Given the description of an element on the screen output the (x, y) to click on. 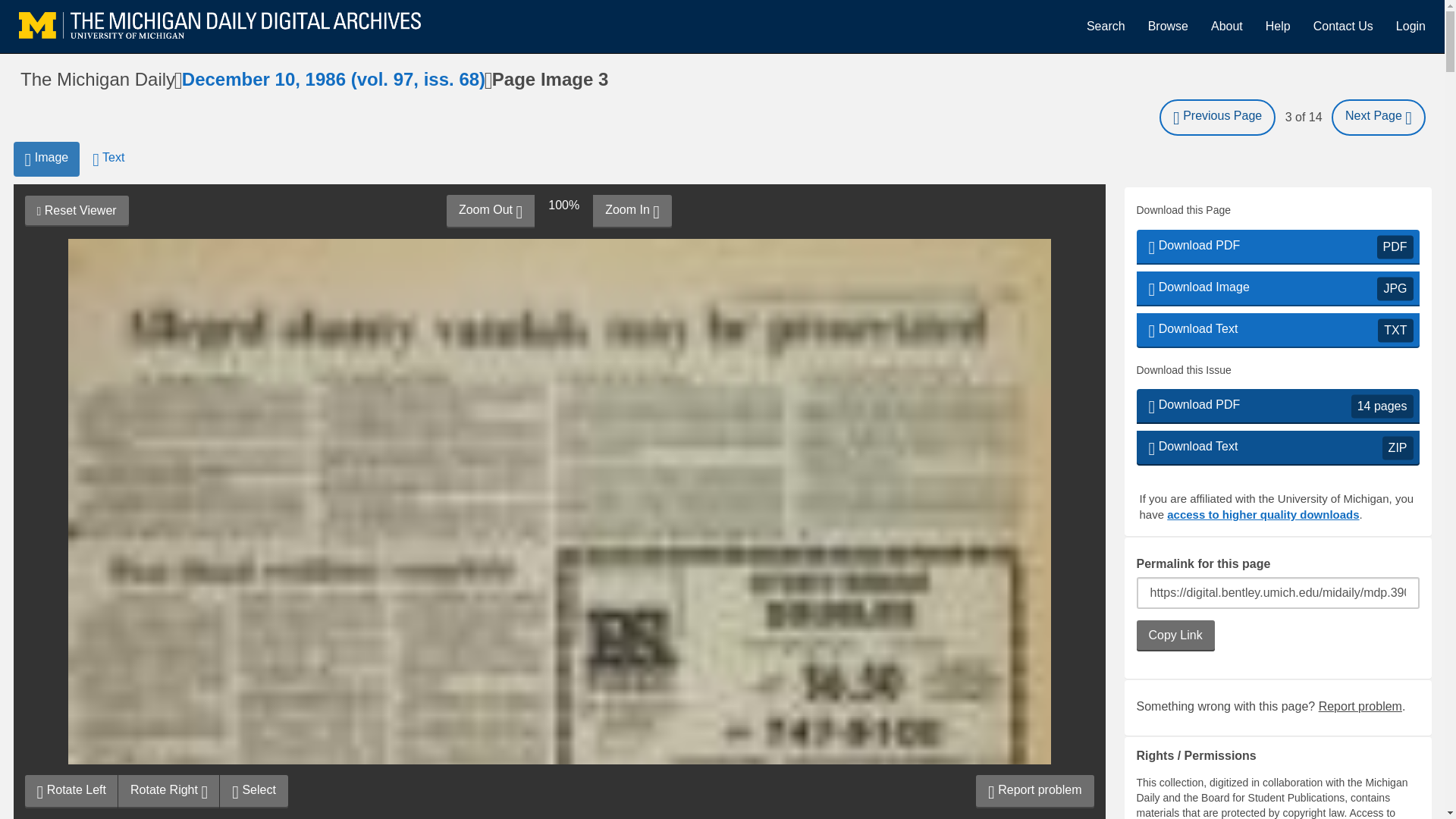
Zoom Out (1276, 247)
Reset Viewer (253, 791)
Image (490, 211)
About (76, 210)
Rotate Left (1276, 406)
Next Page (46, 158)
